Given the description of an element on the screen output the (x, y) to click on. 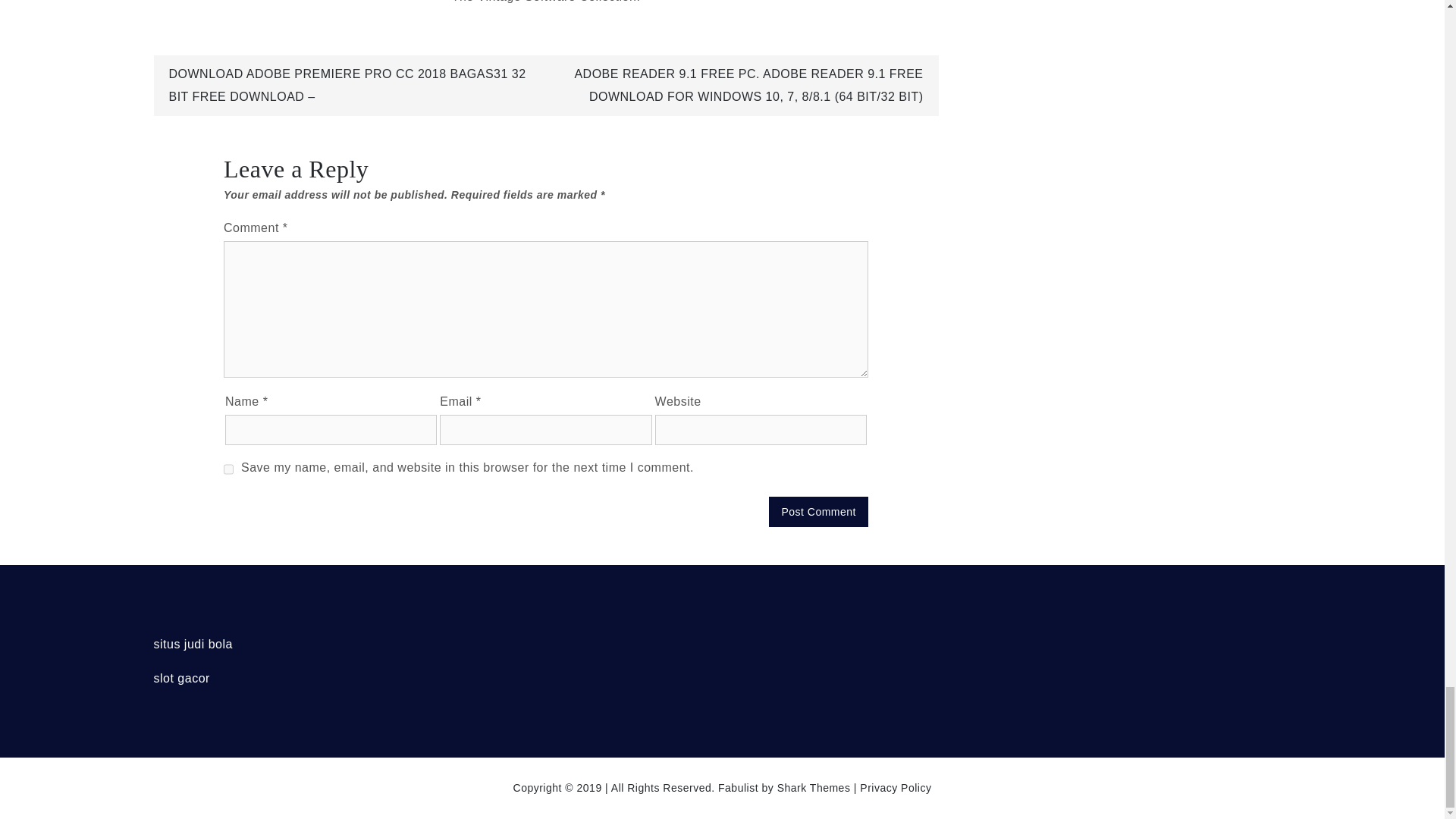
Post Comment (817, 511)
Post Comment (817, 511)
